Given the description of an element on the screen output the (x, y) to click on. 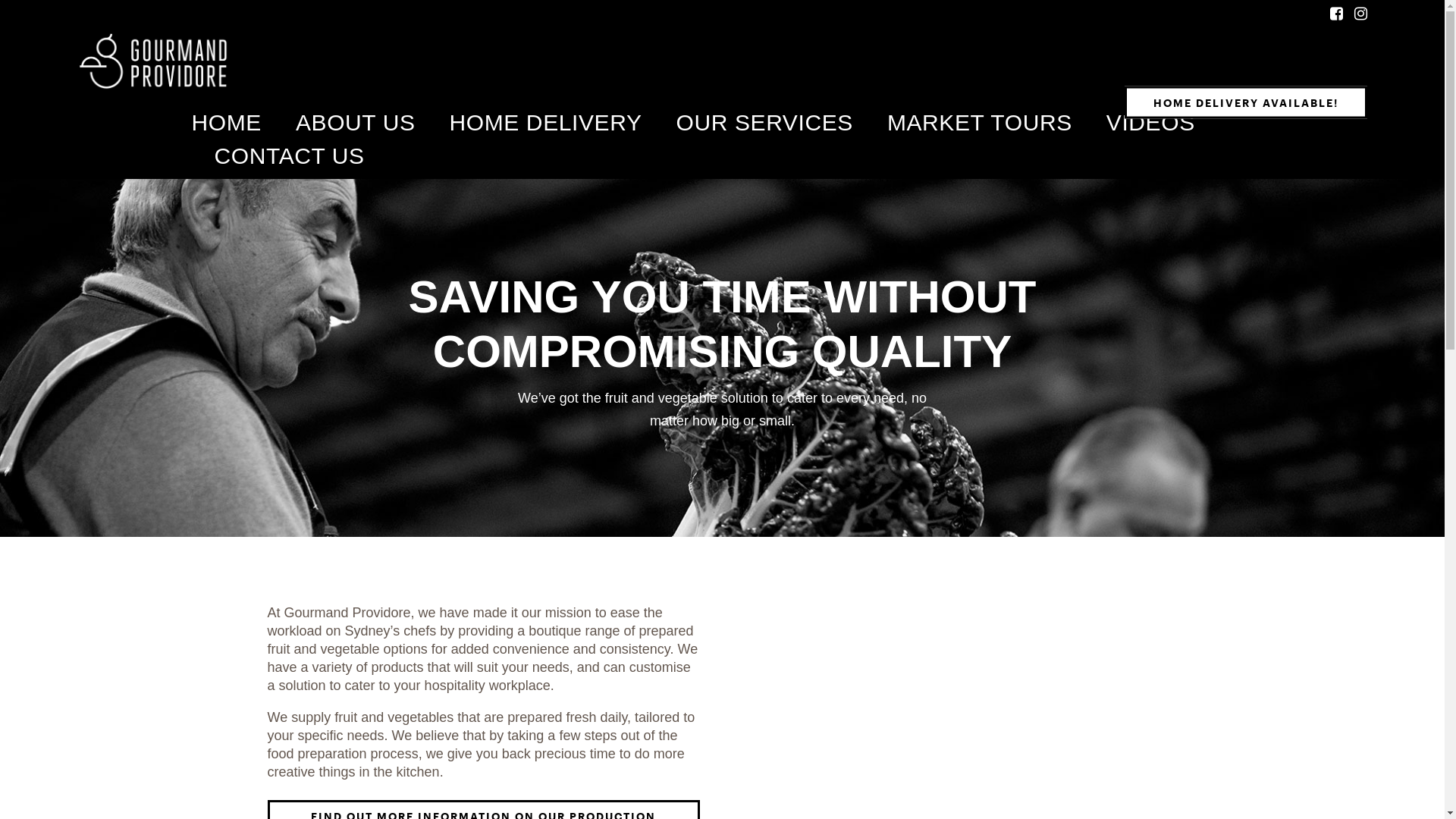
HOME DELIVERY Element type: text (545, 122)
VIDEOS Element type: text (1150, 122)
ABOUT US Element type: text (355, 122)
OUR SERVICES Element type: text (764, 122)
MARKET TOURS Element type: text (979, 122)
CONTACT US Element type: text (288, 155)
GP-logo-hori-cropped Element type: hover (153, 61)
HOME Element type: text (225, 122)
HOME DELIVERY AVAILABLE! Element type: text (1244, 101)
